Given the description of an element on the screen output the (x, y) to click on. 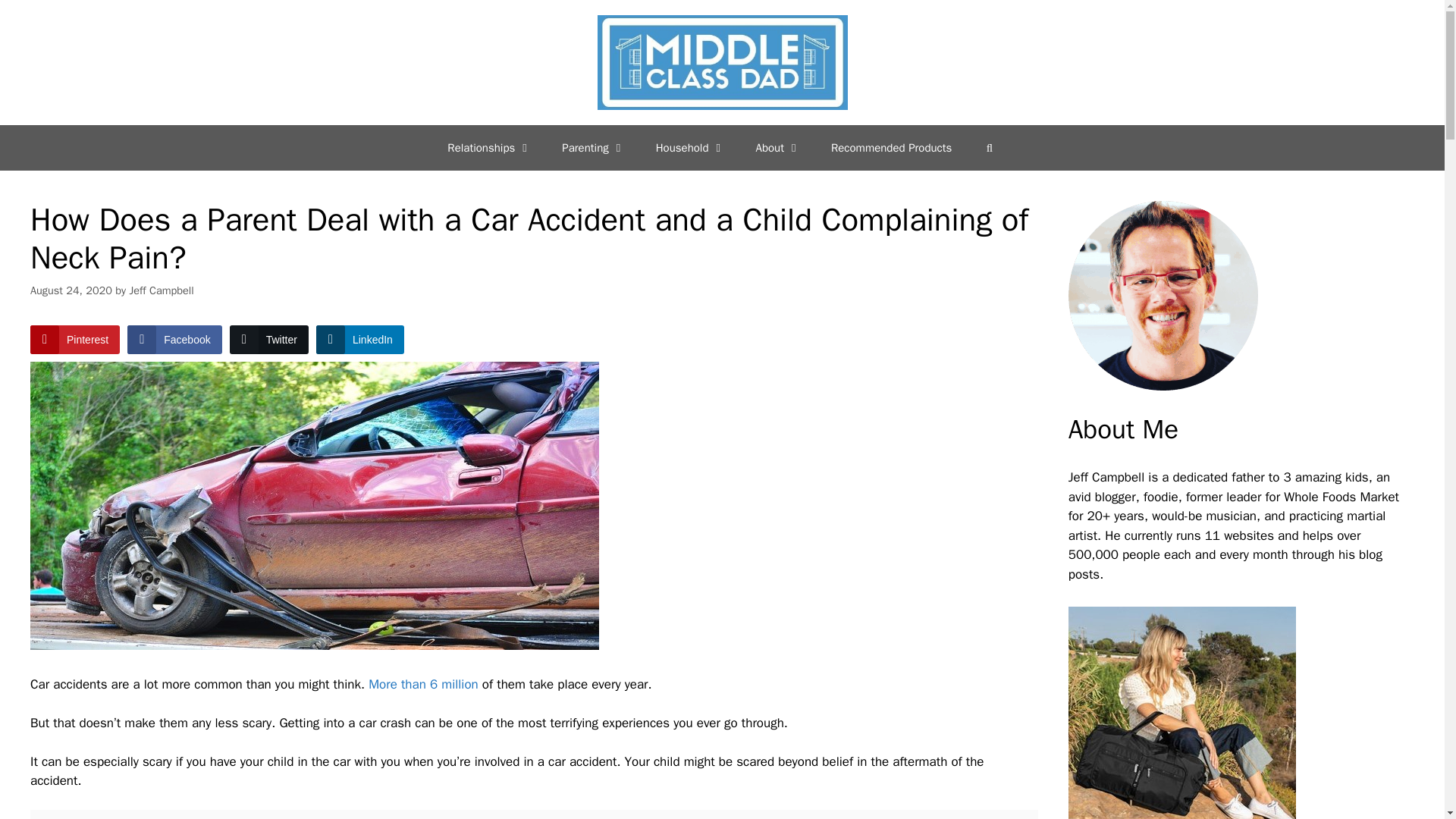
About (778, 147)
View all posts by Jeff Campbell (161, 290)
Household (690, 147)
Relationships (489, 147)
Parenting (593, 147)
